Given the description of an element on the screen output the (x, y) to click on. 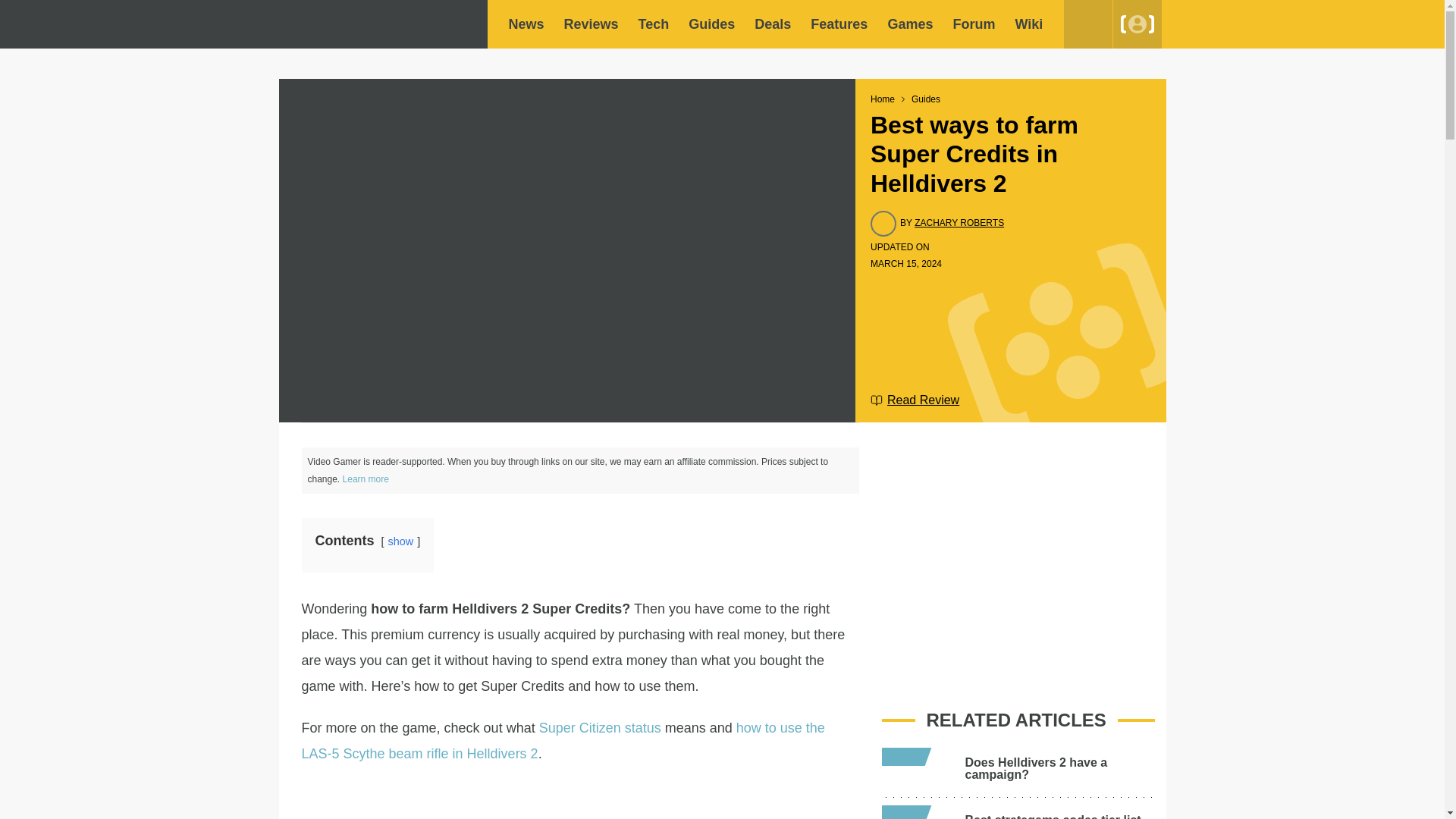
Features (838, 24)
Guides (711, 24)
News (526, 24)
Features (838, 24)
Reviews (591, 24)
show (400, 541)
Forum (973, 24)
Read Review (914, 400)
Games (909, 24)
Tech (653, 24)
Learn more (365, 479)
Games (909, 24)
how to use the LAS-5 Scythe beam rifle in Helldivers 2 (563, 740)
Home (882, 99)
Guides (711, 24)
